Given the description of an element on the screen output the (x, y) to click on. 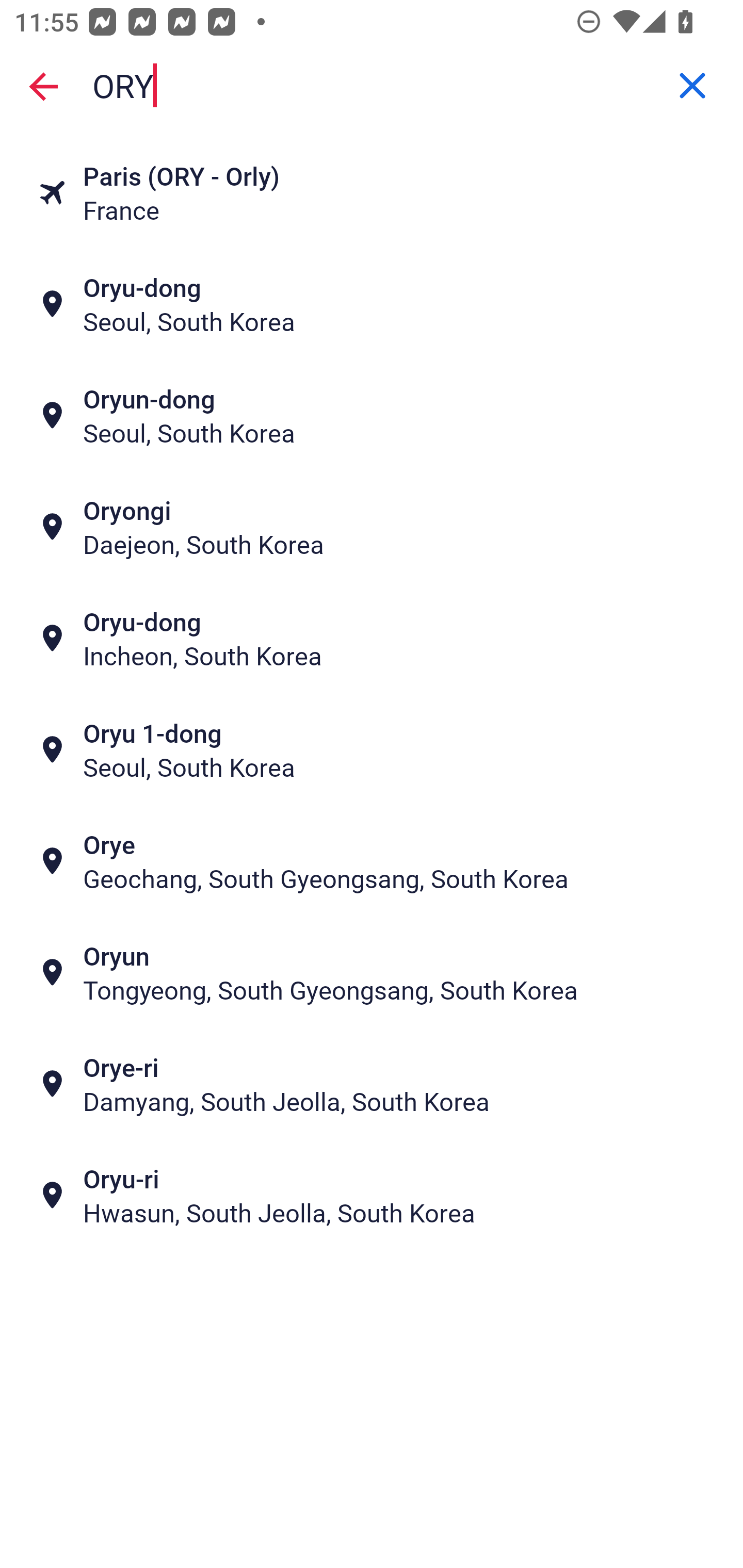
Clear Drop-off (692, 85)
Drop-off, ORY (371, 85)
Close search screen (43, 86)
